Given the description of an element on the screen output the (x, y) to click on. 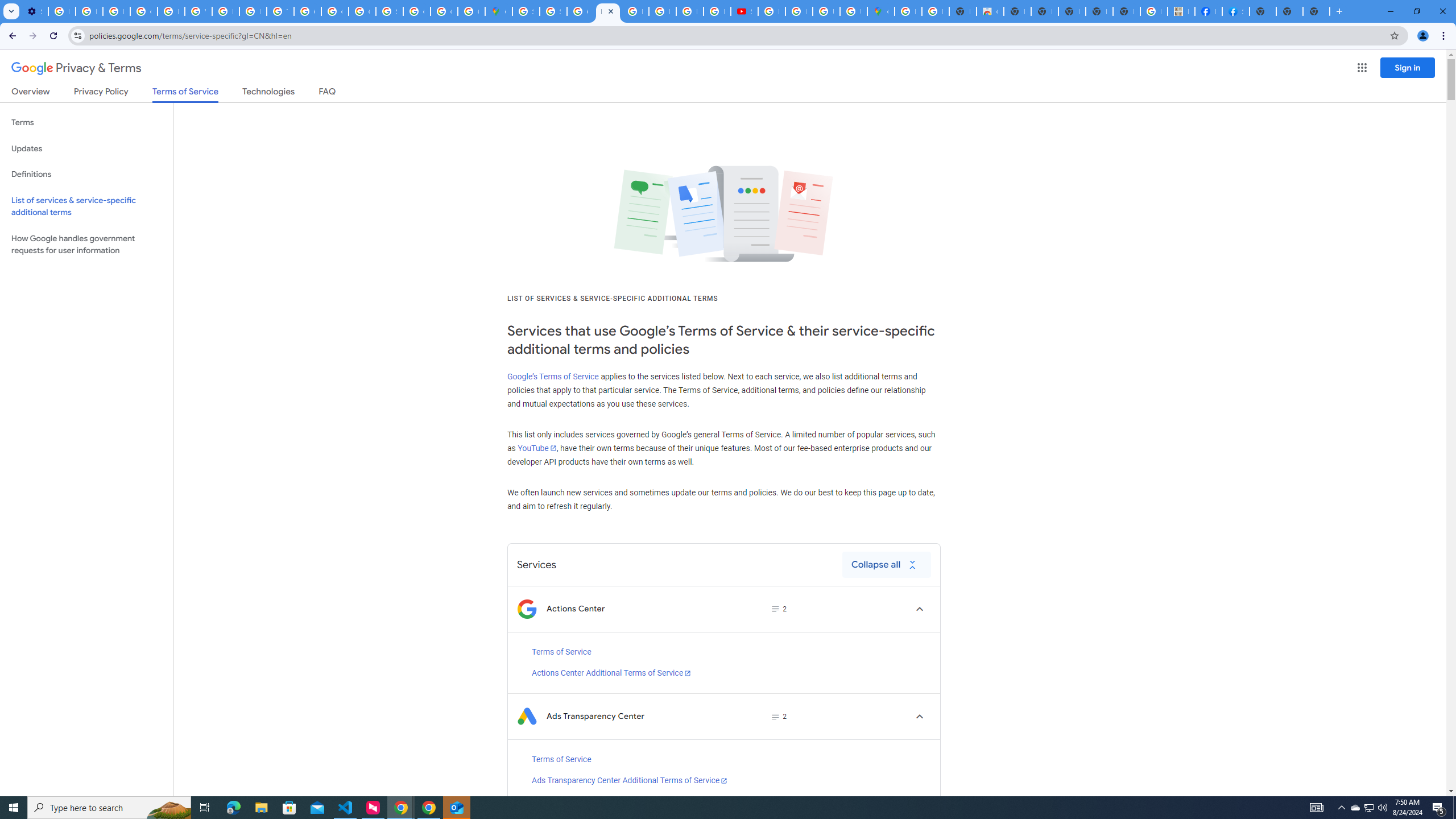
Privacy Help Center - Policies Help (662, 11)
Privacy Help Center - Policies Help (170, 11)
Privacy Help Center - Policies Help (690, 11)
Delete photos & videos - Computer - Google Photos Help (61, 11)
